Given the description of an element on the screen output the (x, y) to click on. 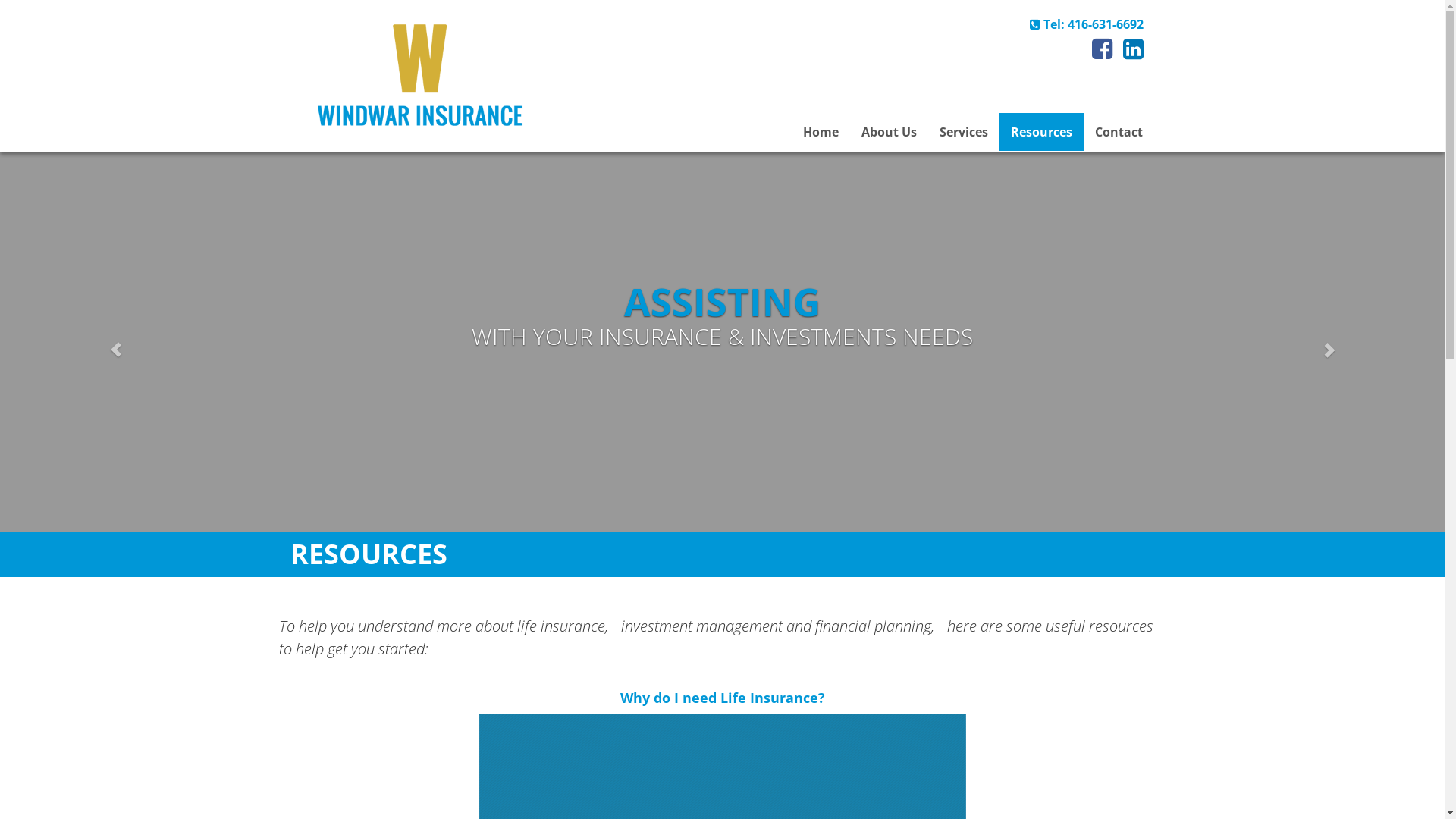
Contact Element type: text (1118, 131)
Resources Element type: text (1040, 131)
Services Element type: text (962, 131)
 Tel: 416-631-6692 Element type: text (1086, 23)
Home Element type: text (819, 131)
Skip to main content Element type: text (59, 9)
Previous Element type: text (108, 341)
About Us Element type: text (888, 131)
Next Element type: text (1335, 341)
